Given the description of an element on the screen output the (x, y) to click on. 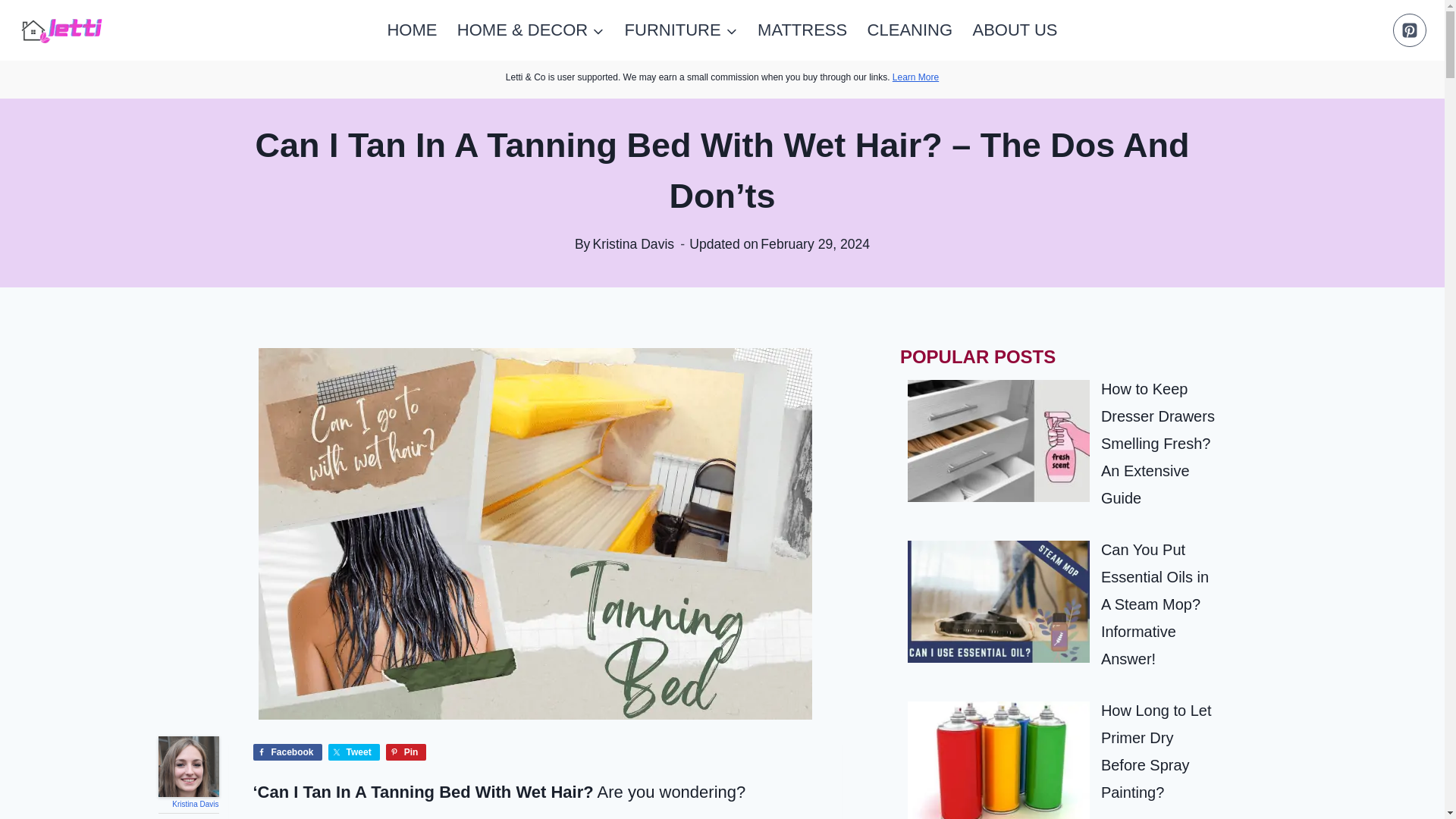
Learn More (915, 77)
Kristina Davis (633, 243)
Share on Pinterest (405, 751)
MATTRESS (802, 30)
Pin (405, 751)
Kristina Davis (194, 804)
FURNITURE (680, 30)
HOME (411, 30)
Kristina Davis (187, 766)
ABOUT US (1014, 30)
Facebook (287, 751)
Tweet (354, 751)
Share on Twitter (354, 751)
Share on Facebook (287, 751)
CLEANING (909, 30)
